Given the description of an element on the screen output the (x, y) to click on. 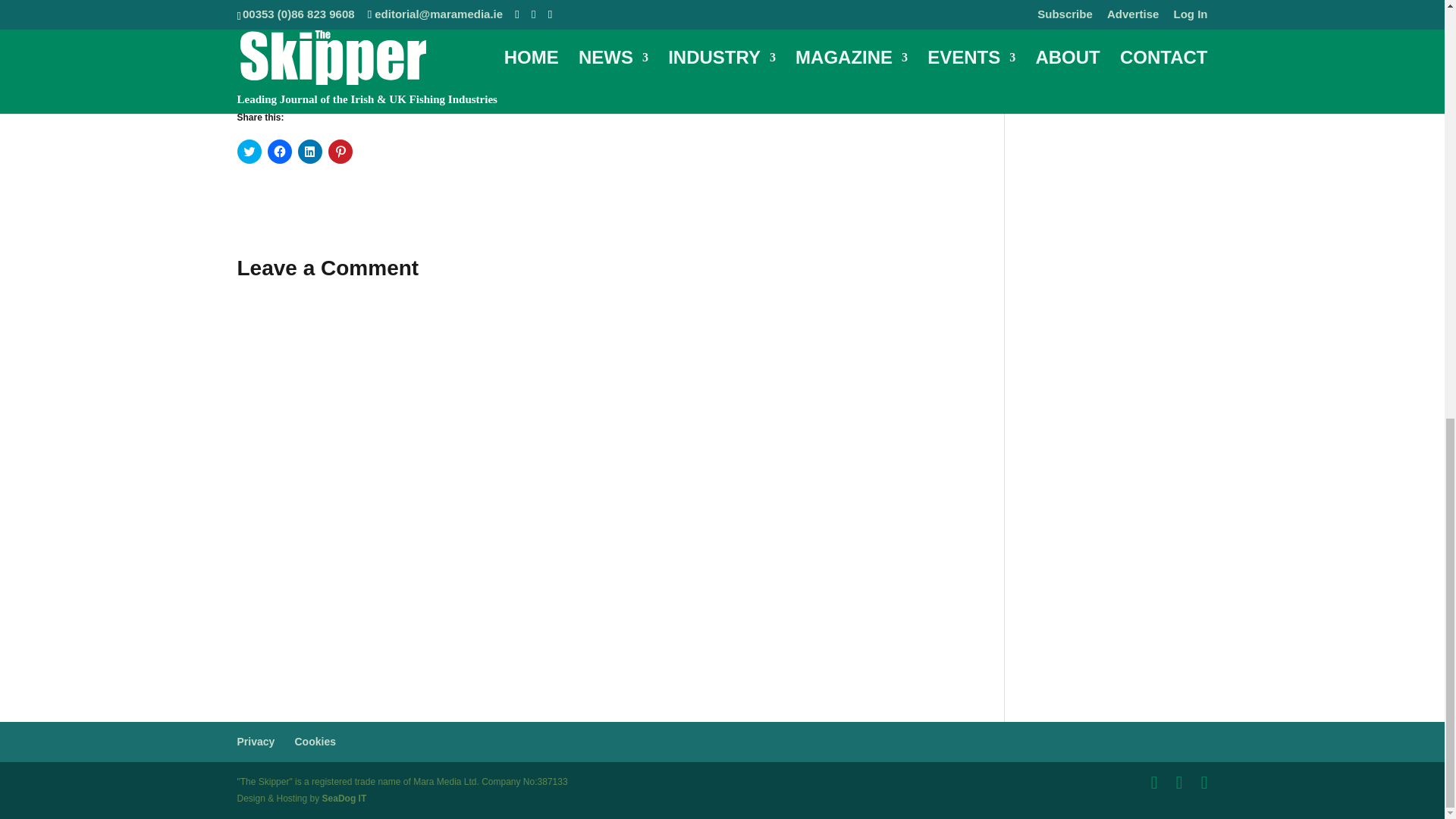
Click to share on Pinterest (339, 151)
Click to share on Twitter (247, 151)
Click to share on Facebook (278, 151)
Click to share on LinkedIn (309, 151)
